Given the description of an element on the screen output the (x, y) to click on. 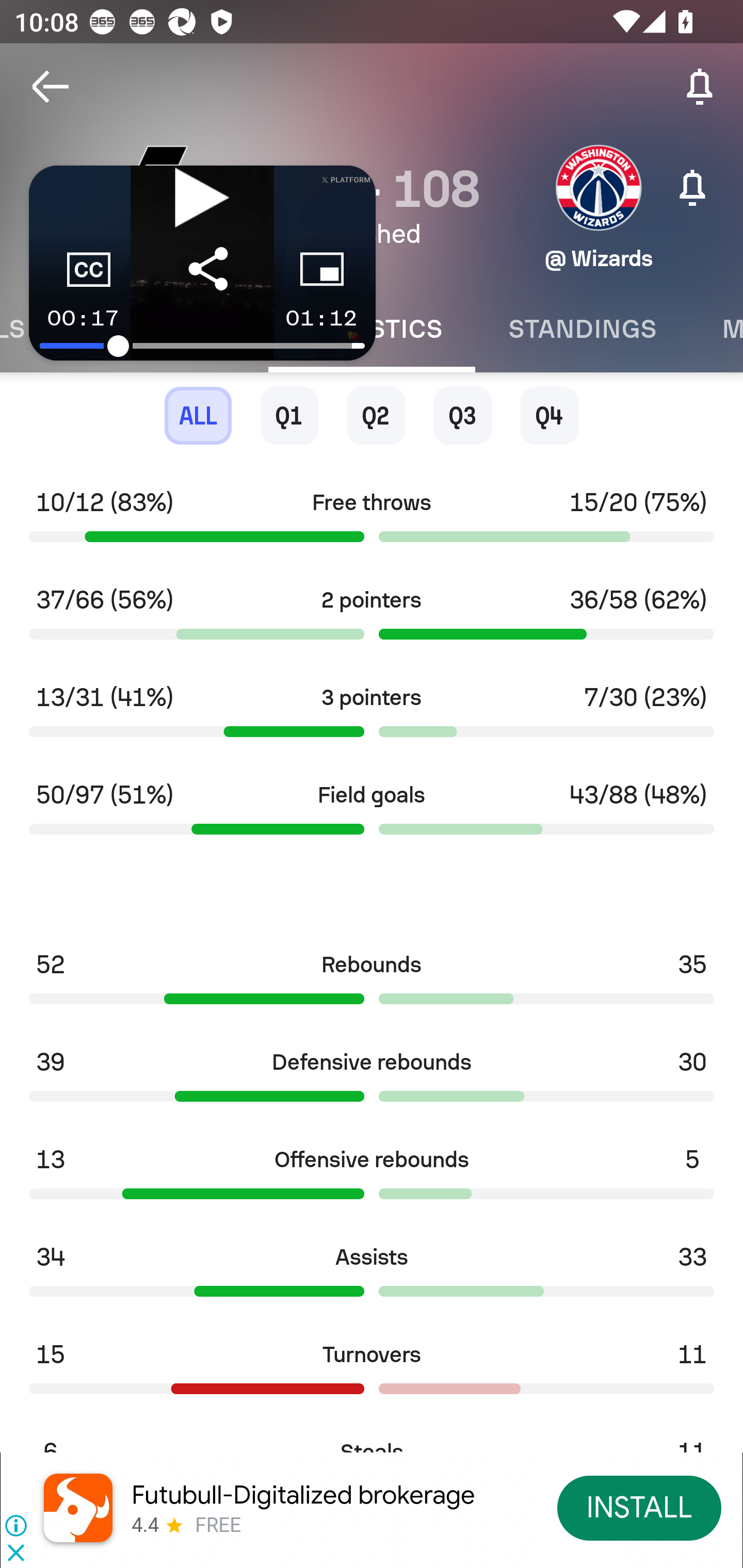
Navigate up (50, 86)
Standings STANDINGS (581, 329)
ALL (197, 416)
Q1 (288, 416)
Q2 (375, 416)
Q3 (462, 416)
Q4 (548, 416)
10/12 (83%) Free throws 15/20 (75%) 833.0 750.0 (371, 521)
37/66 (56%) 2 pointers 36/58 (62%) 560.0 620.0 (371, 618)
13/31 (41%) 3 pointers 7/30 (23%) 419.0 233.0 (371, 716)
50/97 (51%) Field goals 43/88 (48%) 515.0 488.0 (371, 814)
52 Rebounds 35 597.0 402.0 (371, 984)
39 Defensive rebounds 30 565.0 434.0 (371, 1081)
13 Offensive rebounds 5 722.0 277.0 (371, 1178)
34 Assists 33 507.0 492.0 (371, 1275)
15 Turnovers 11 576.0 423.0 (371, 1373)
INSTALL (639, 1507)
Futubull-Digitalized brokerage (302, 1494)
